Given the description of an element on the screen output the (x, y) to click on. 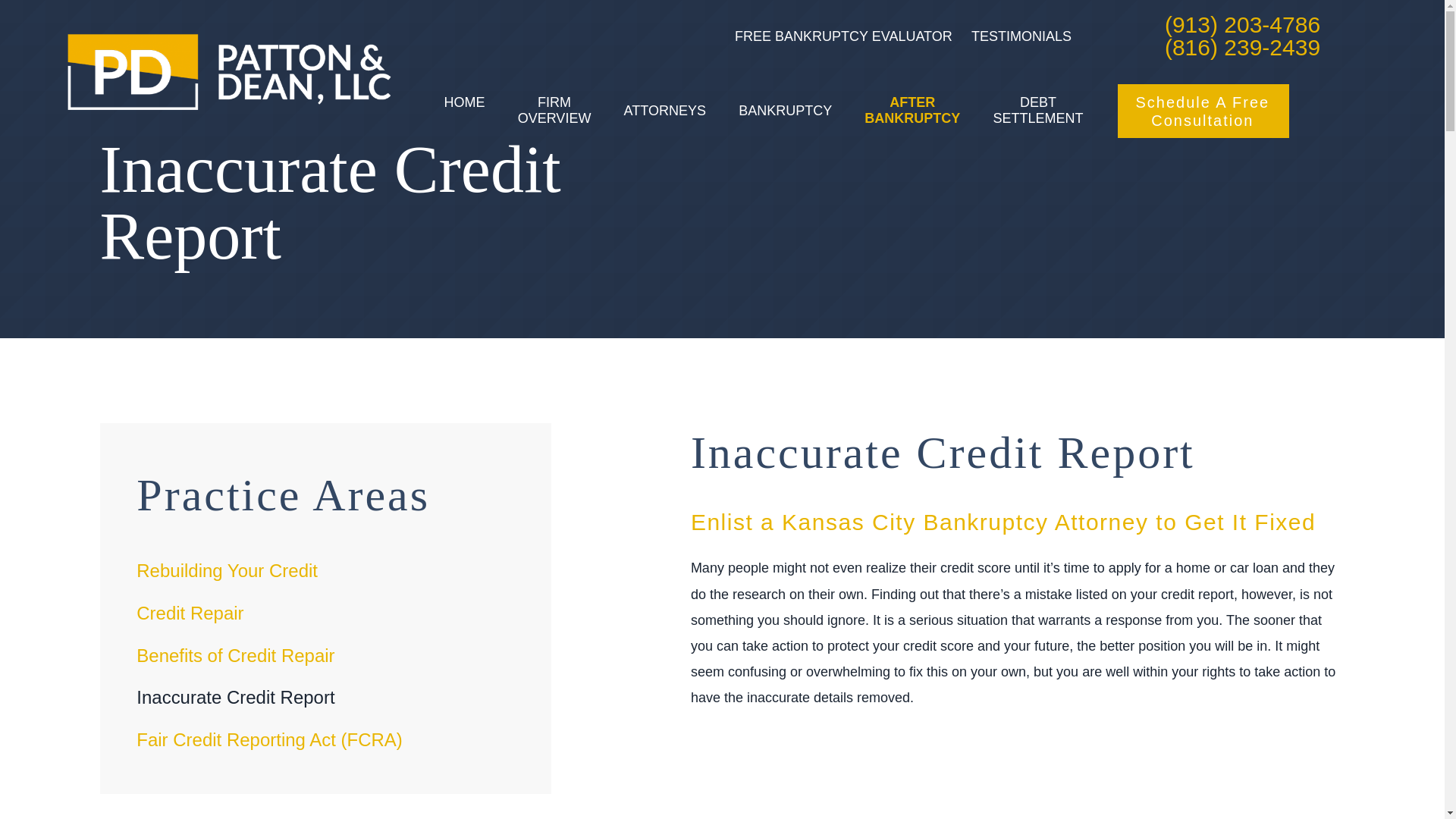
Open the accessibility options menu (31, 786)
FIRM OVERVIEW (554, 110)
BANKRUPTCY (784, 110)
DEBT SETTLEMENT (1037, 110)
TESTIMONIALS (1021, 36)
FREE BANKRUPTCY EVALUATOR (843, 36)
AFTER BANKRUPTCY (911, 110)
ATTORNEYS (665, 110)
HOME (464, 110)
